Given the description of an element on the screen output the (x, y) to click on. 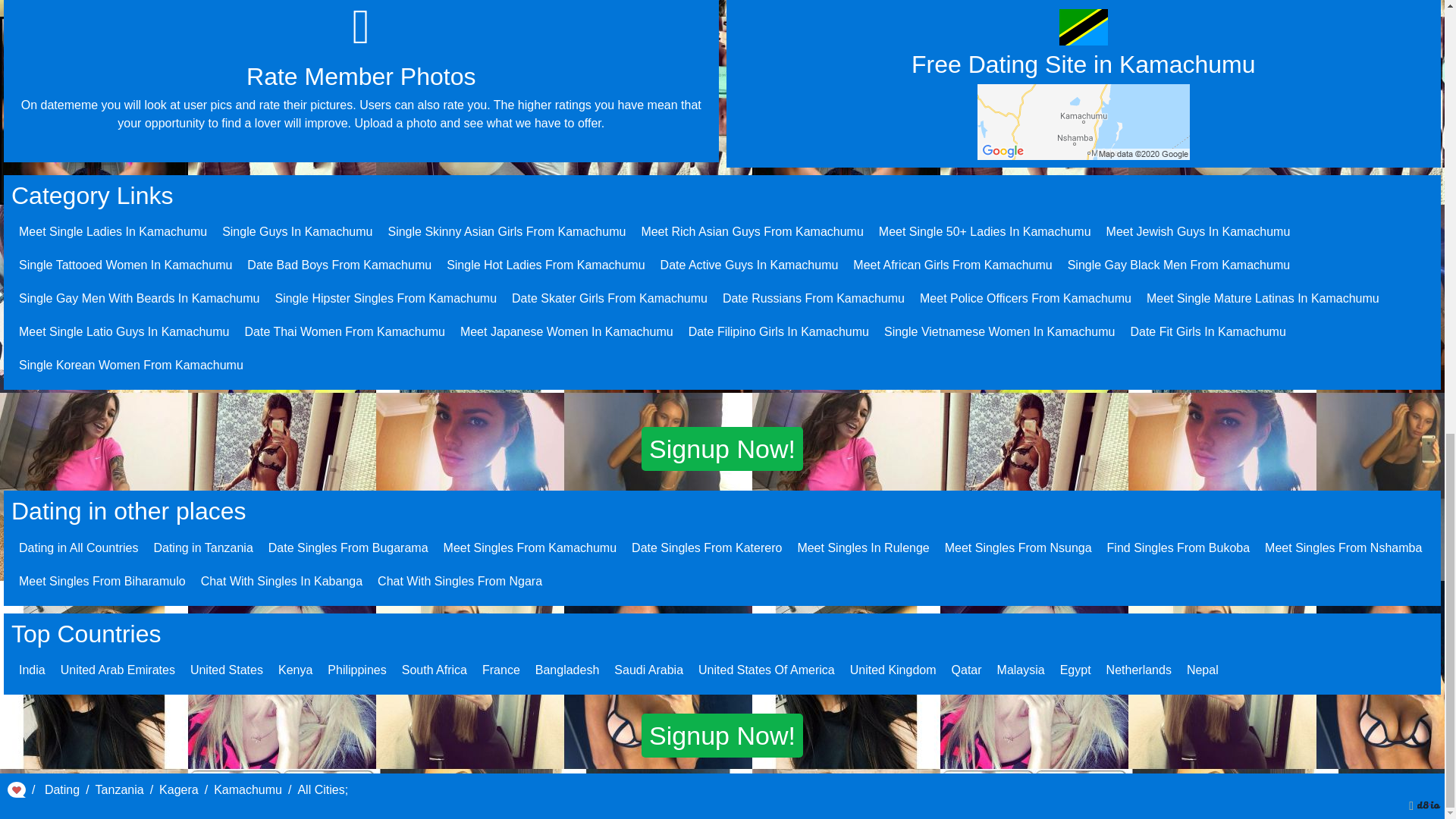
Single Guys In Kamachumu (297, 231)
Single Skinny Asian Girls From Kamachumu (506, 231)
Meet Single Ladies In Kamachumu (112, 231)
Meet Rich Asian Guys From Kamachumu (751, 231)
